Given the description of an element on the screen output the (x, y) to click on. 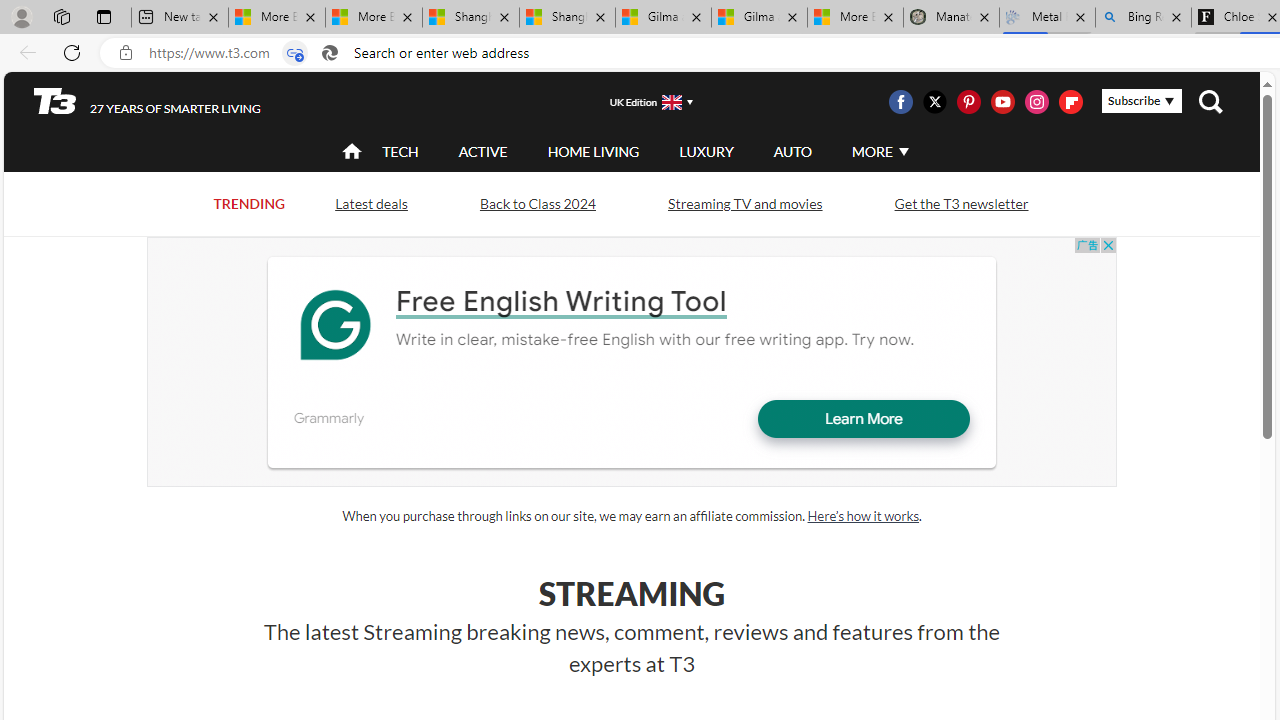
Visit us on Twitter (934, 101)
flag of UK (672, 102)
TECH (399, 151)
TECH (399, 151)
ACTIVE (483, 151)
LUXURY (705, 151)
Streaming TV and movies (744, 204)
UK Edition (643, 101)
Latest deals (370, 202)
Tabs in split screen (294, 53)
AUTO (792, 151)
LUXURY (705, 151)
Visit us on Flipboard (1070, 101)
Class: navigation__search (1210, 101)
